Given the description of an element on the screen output the (x, y) to click on. 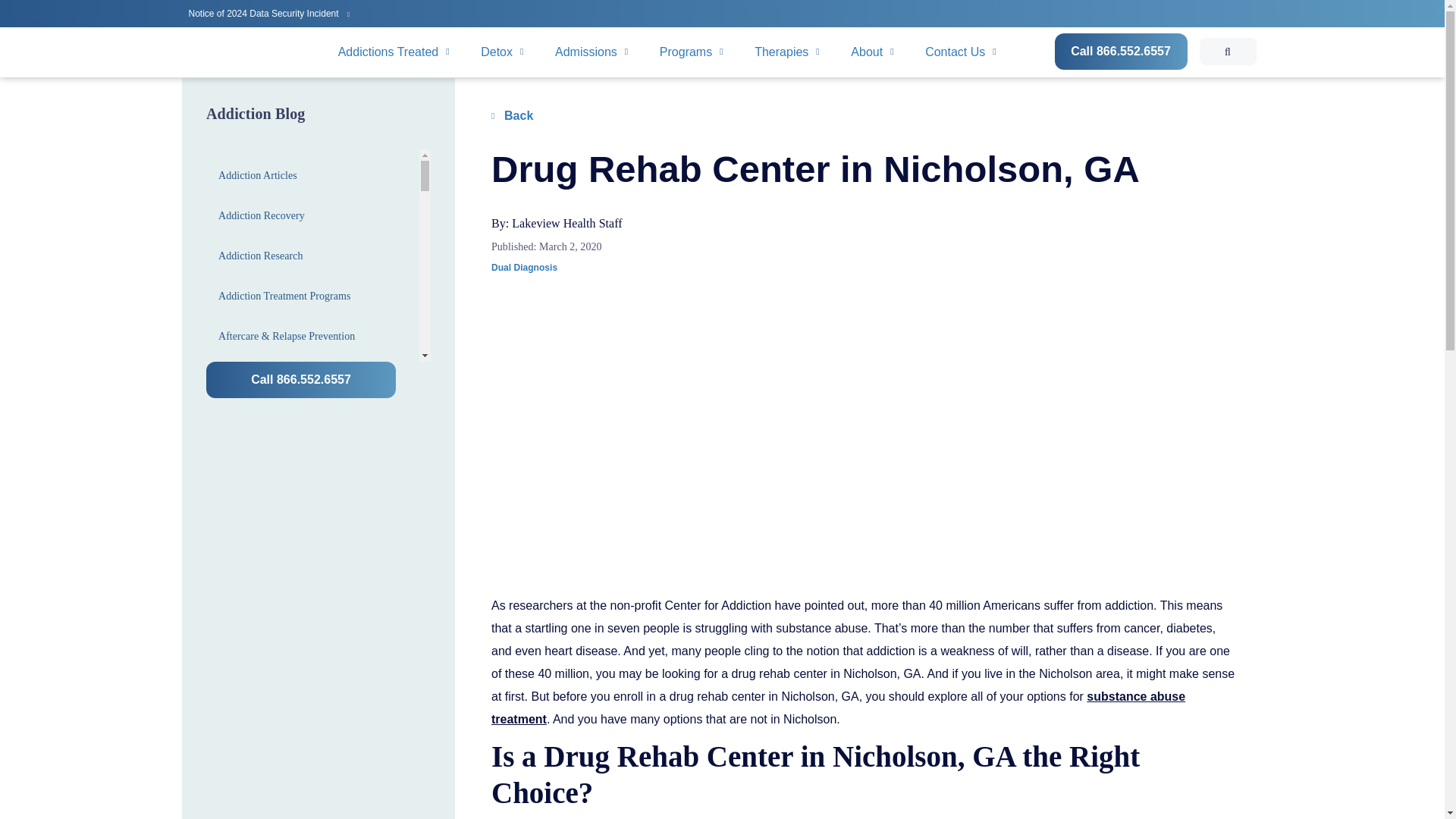
Programs (691, 51)
Addictions Treated (394, 51)
Therapies (787, 51)
Detox (502, 51)
Notice of 2024 Data Security Incident (268, 12)
Admissions (591, 51)
